Given the description of an element on the screen output the (x, y) to click on. 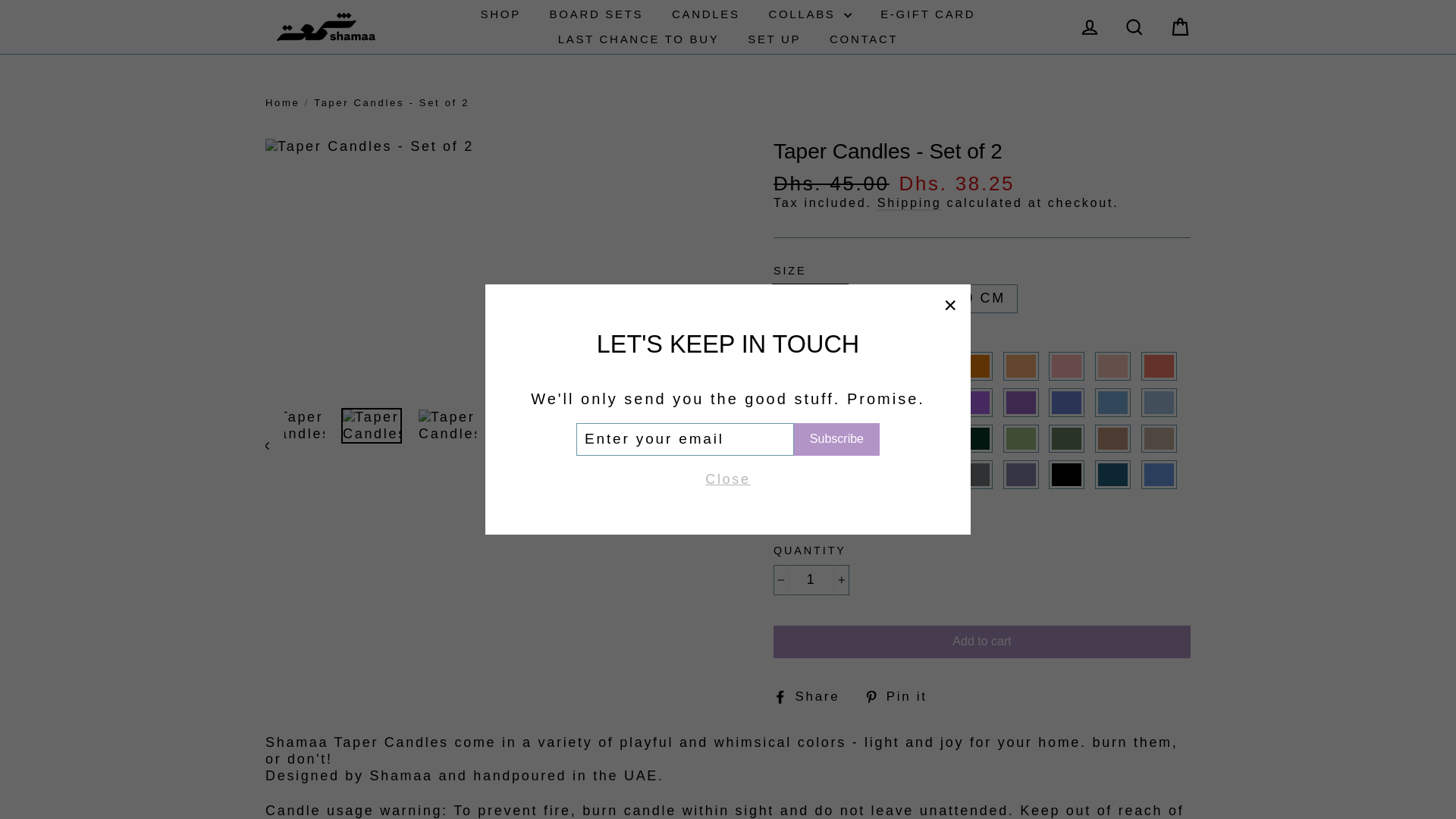
COLLABS (810, 13)
Cart (1179, 26)
CONTACT (863, 39)
Home (281, 102)
E-GIFT CARD (928, 13)
Share on Facebook (811, 697)
